Given the description of an element on the screen output the (x, y) to click on. 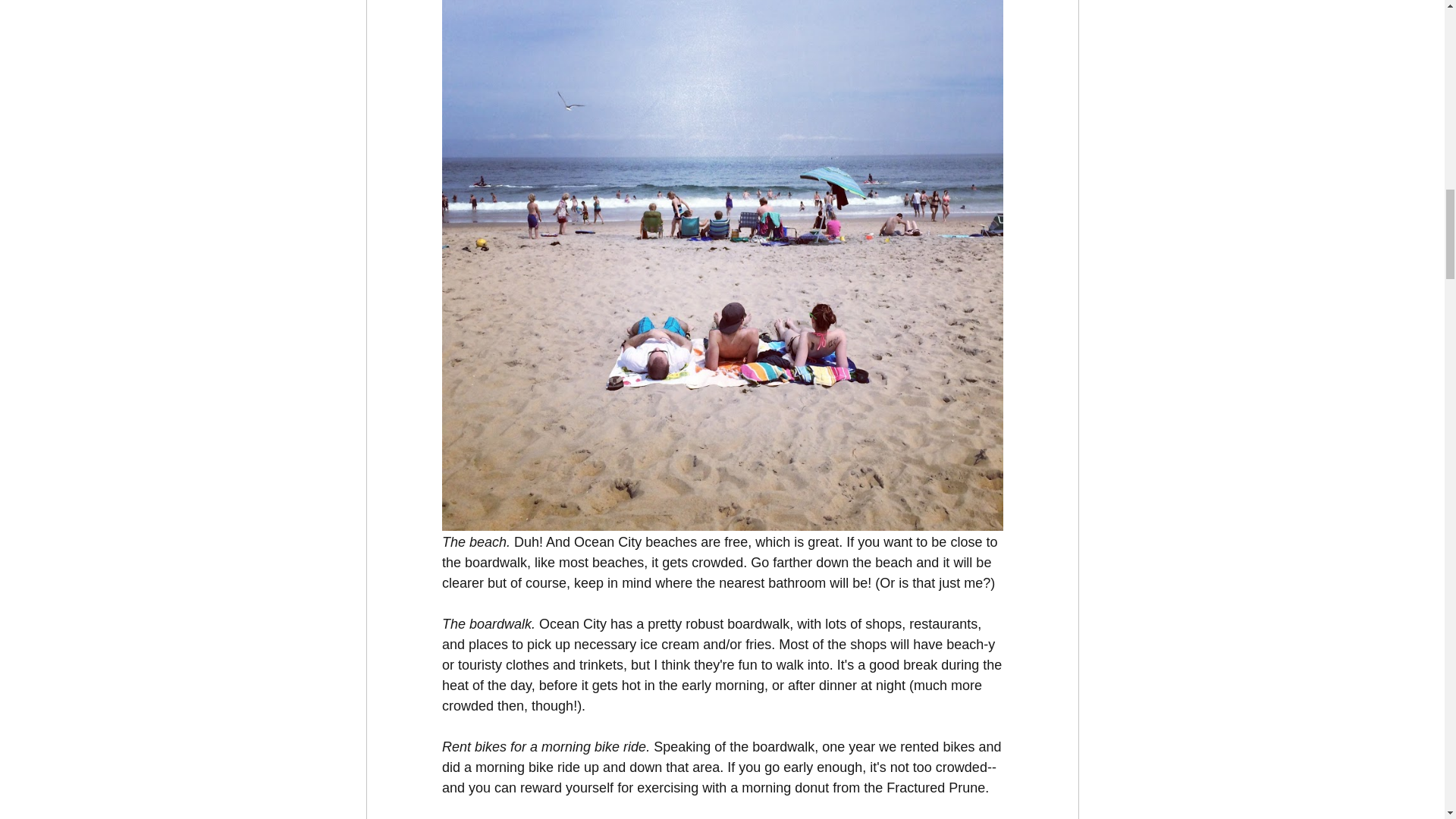
Fractured Prune (935, 787)
